Given the description of an element on the screen output the (x, y) to click on. 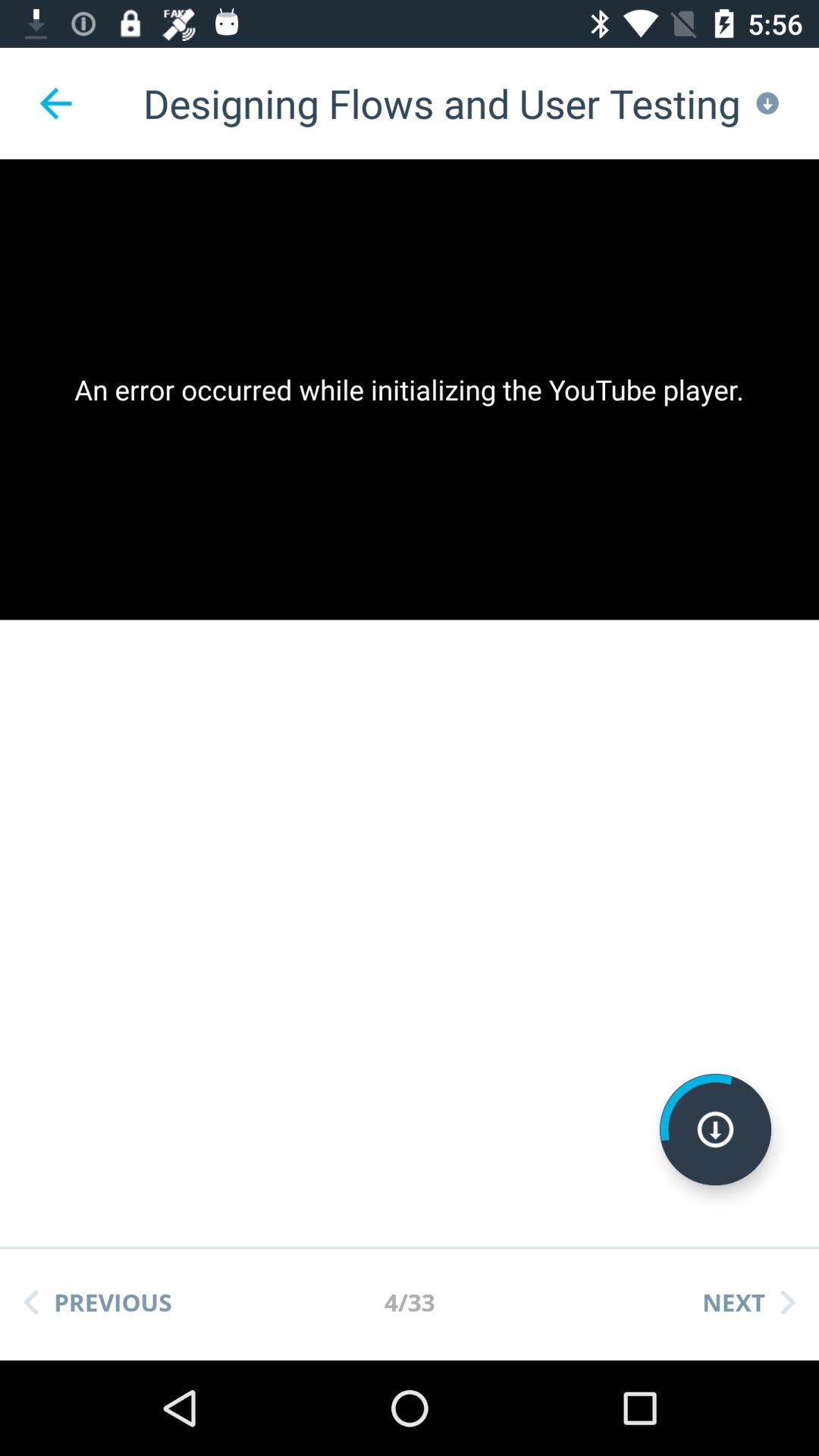
flip until next icon (748, 1302)
